Given the description of an element on the screen output the (x, y) to click on. 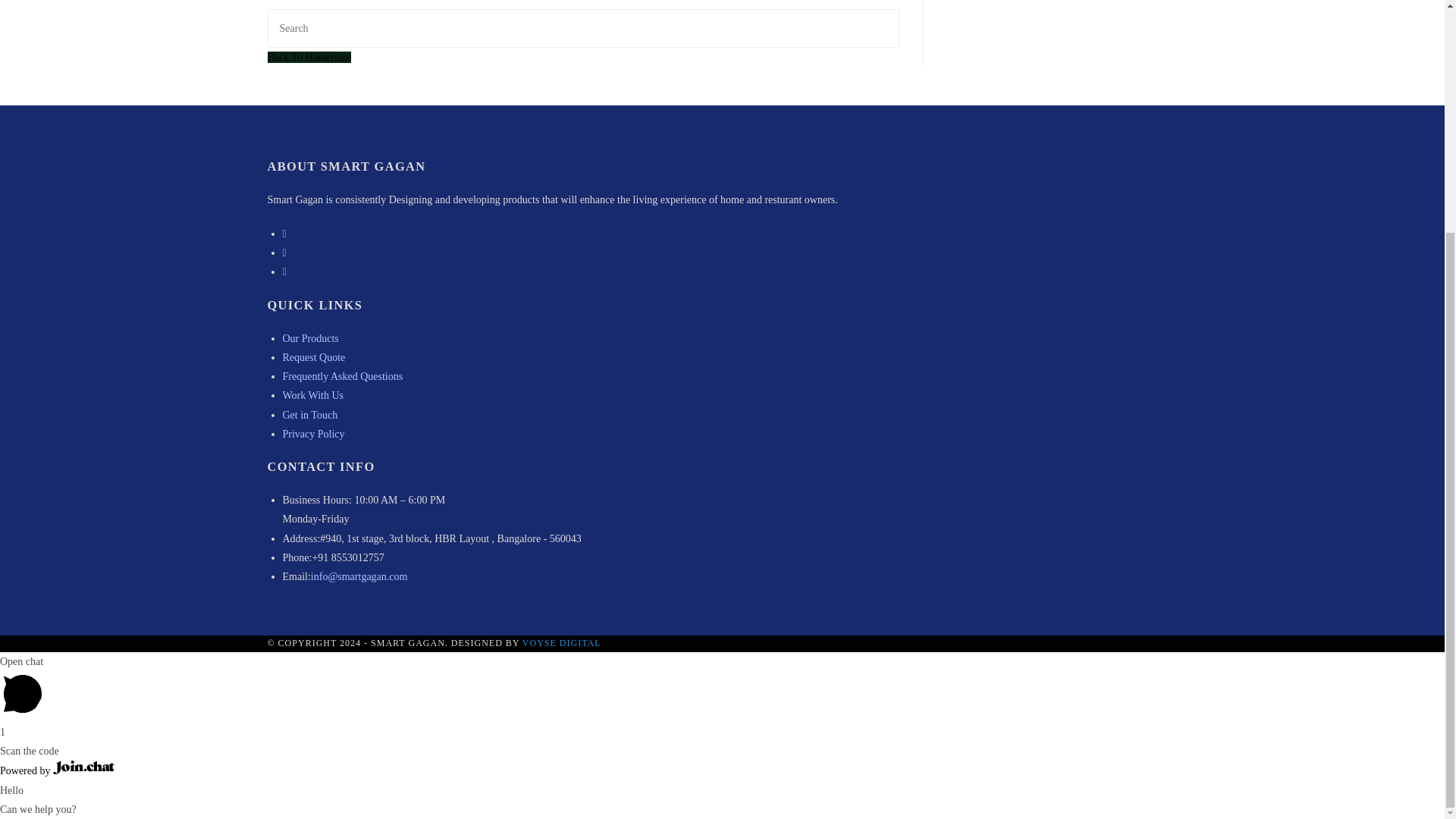
Our Products (309, 337)
Joinchat (83, 766)
Back To Homepage (308, 57)
